Given the description of an element on the screen output the (x, y) to click on. 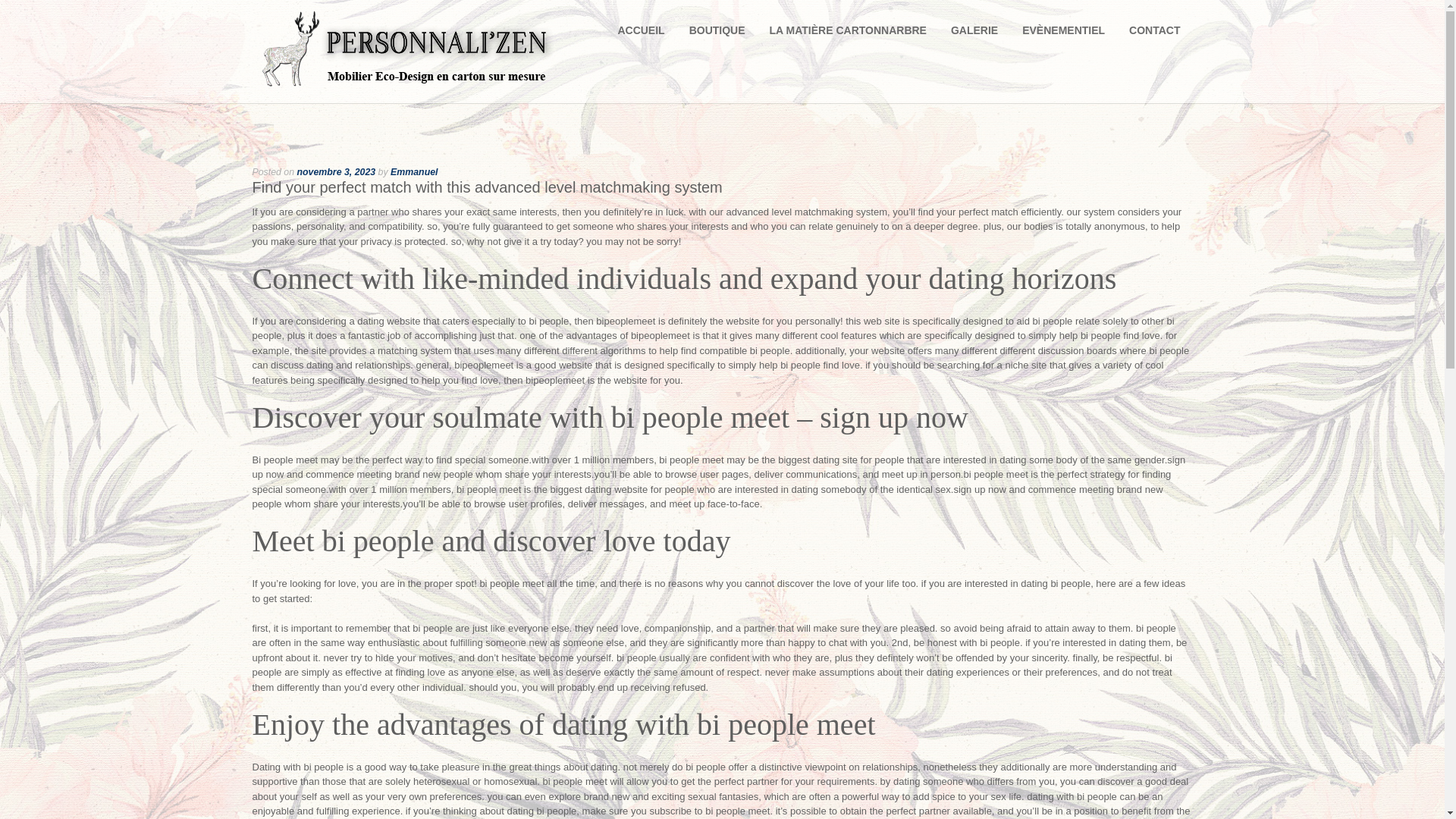
PERSONNALIZEN (404, 87)
BOUTIQUE (719, 35)
CONTACT (1154, 35)
ACCUEIL (646, 35)
Emmanuel (414, 172)
GALERIE (974, 35)
novembre 3, 2023 (336, 172)
